Given the description of an element on the screen output the (x, y) to click on. 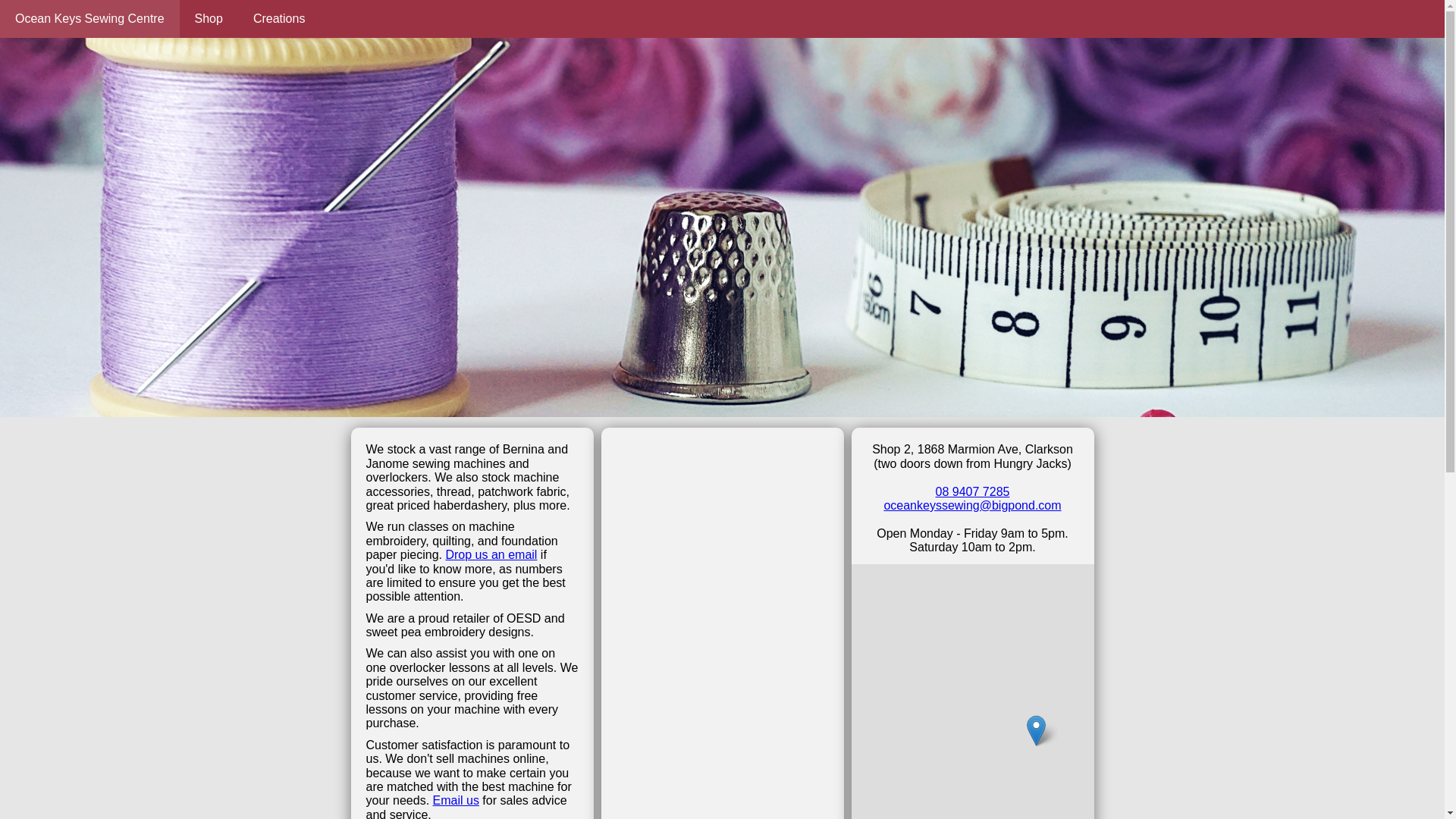
Drop us an email Element type: text (490, 554)
Shop Element type: text (208, 18)
08 9407 7285 Element type: text (972, 491)
oceankeyssewing@bigpond.com Element type: text (971, 504)
Ocean Keys Sewing Centre Element type: text (89, 18)
Email us Element type: text (456, 799)
Creations Element type: text (279, 18)
